Given the description of an element on the screen output the (x, y) to click on. 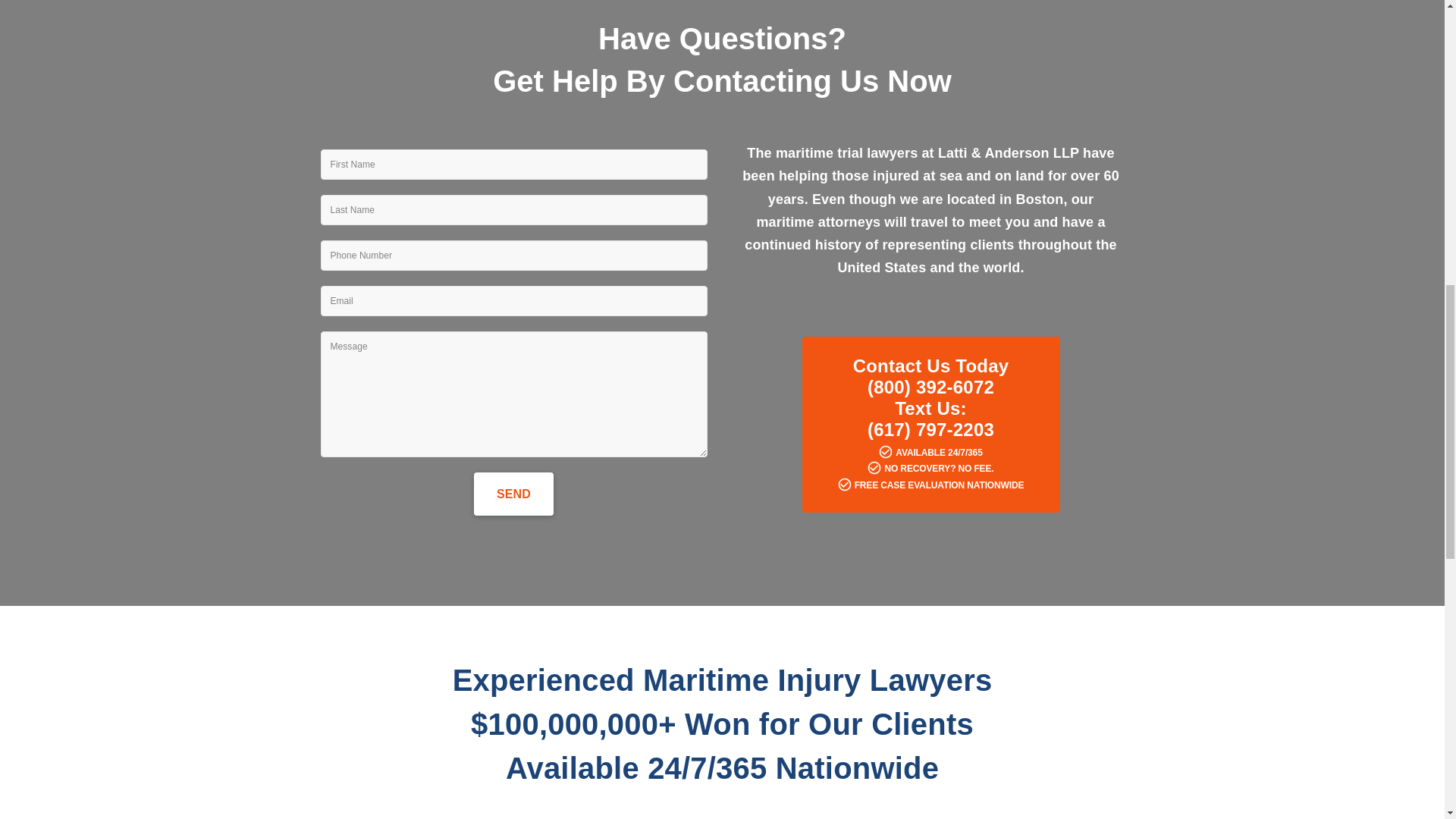
SEND (513, 493)
